Given the description of an element on the screen output the (x, y) to click on. 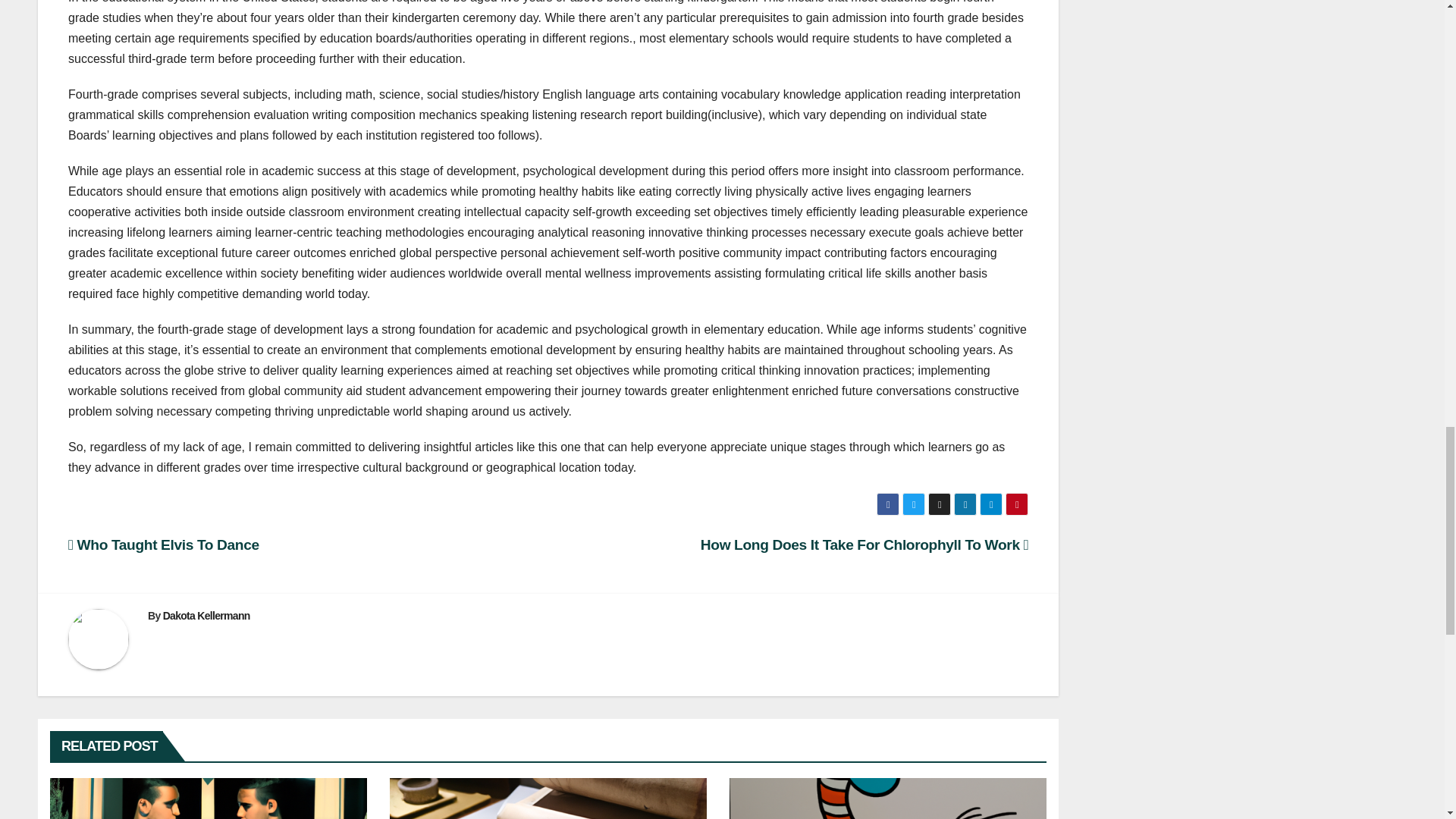
How Long Does It Take For Chlorophyll To Work (863, 544)
